Given the description of an element on the screen output the (x, y) to click on. 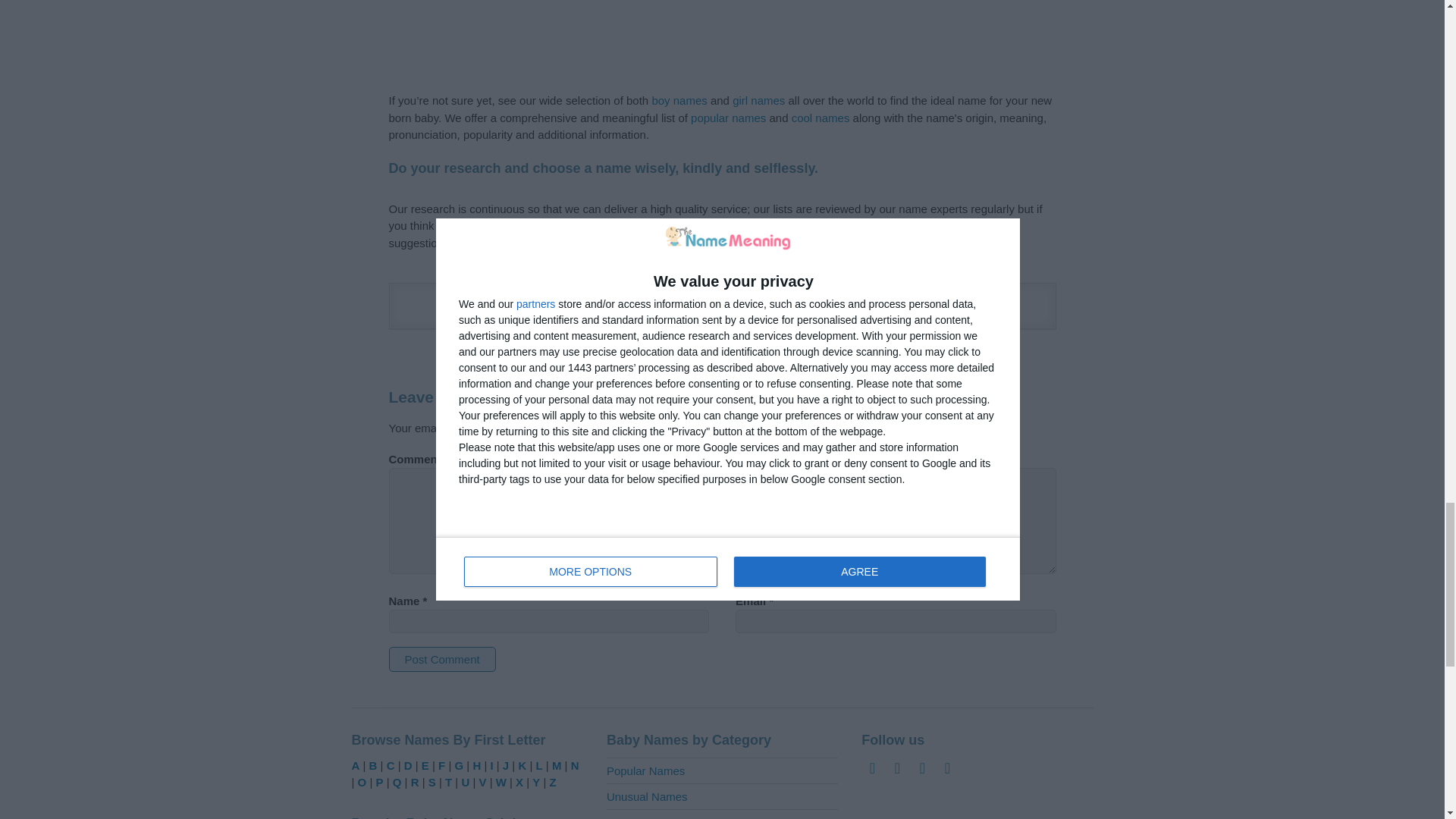
girl names (758, 100)
popular names (729, 117)
cool names (821, 117)
contact form (887, 225)
boy names (678, 100)
Post Comment (441, 659)
